Given the description of an element on the screen output the (x, y) to click on. 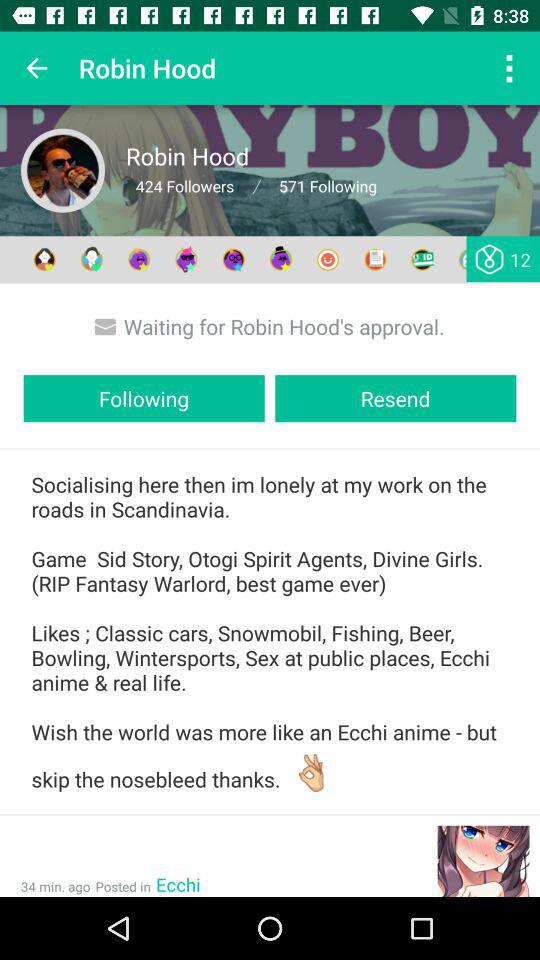
select the eight emoji which is below the image (375, 260)
go to the ninth icon from the  nine icons (422, 260)
go to the sixth icon from the row of icons (281, 260)
select the first icon which comes after 571 following (44, 260)
select the symbol which is right to followers (256, 185)
click on the option button on the top right corner (508, 68)
click on the fourth icon which comes after 571 following (186, 260)
